Given the description of an element on the screen output the (x, y) to click on. 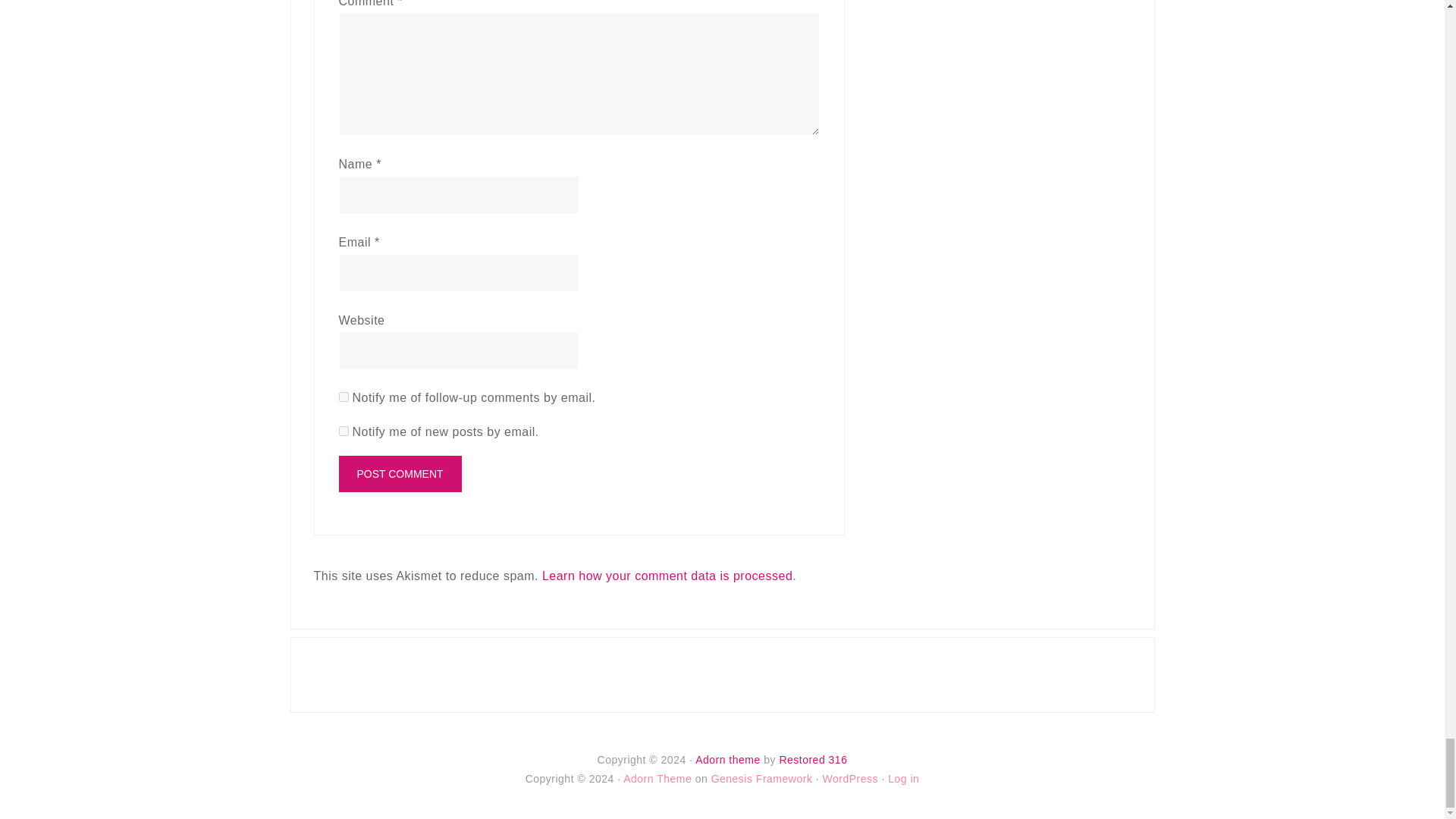
subscribe (342, 397)
subscribe (342, 430)
Post Comment (399, 473)
